Given the description of an element on the screen output the (x, y) to click on. 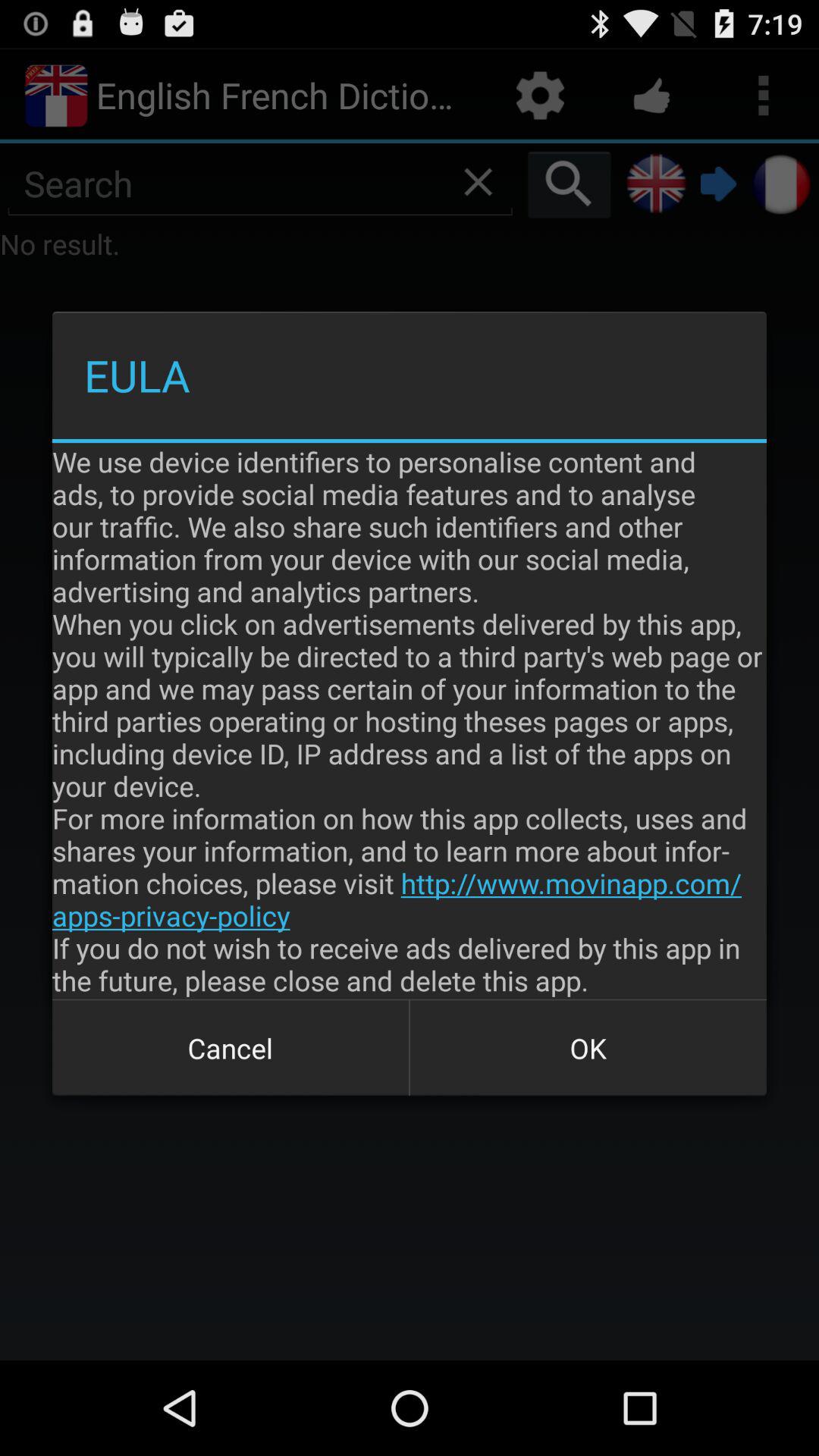
open icon next to ok item (230, 1047)
